Given the description of an element on the screen output the (x, y) to click on. 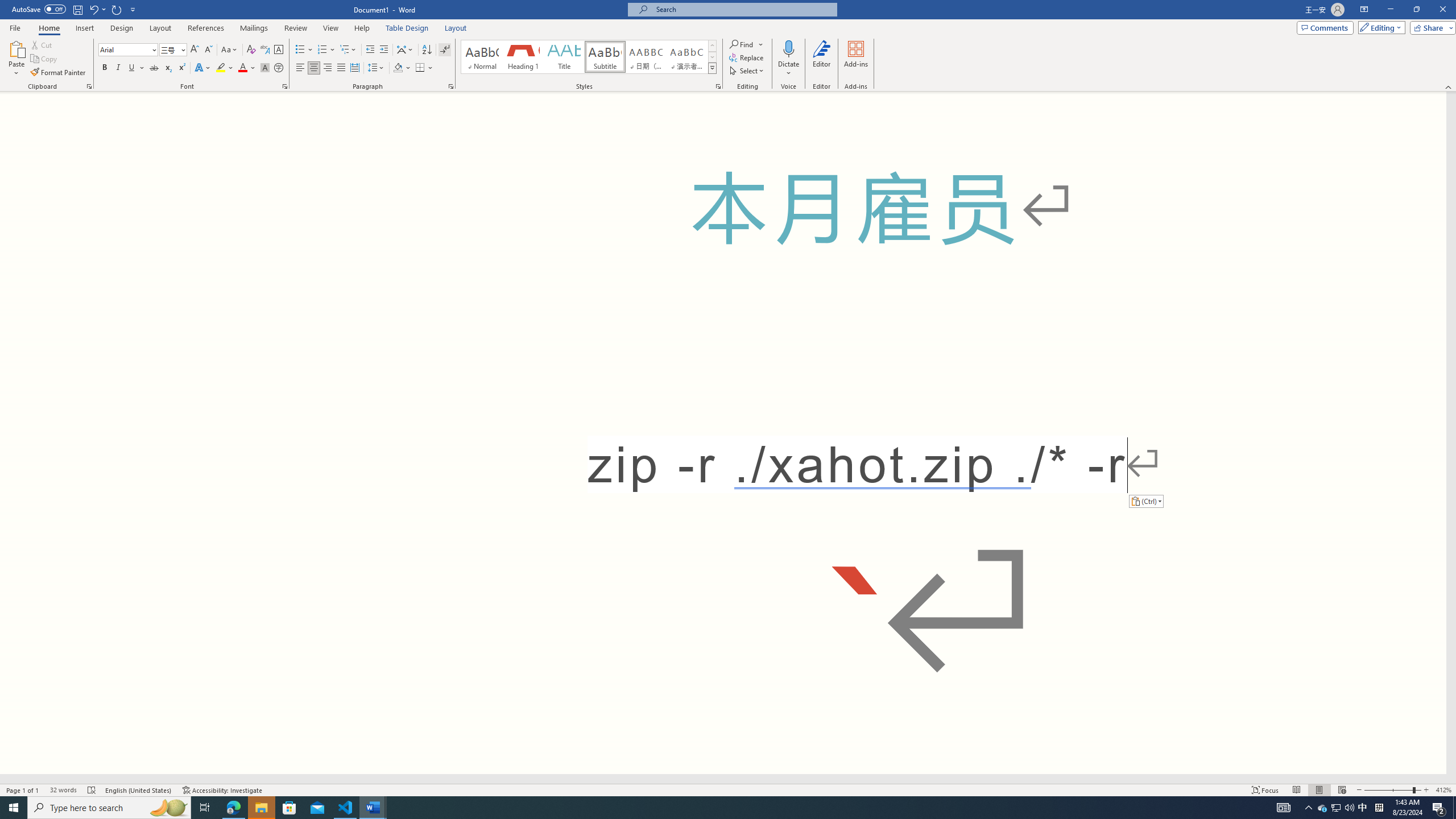
Spelling and Grammar Check Errors (91, 790)
Repeat Doc Close (117, 9)
